Given the description of an element on the screen output the (x, y) to click on. 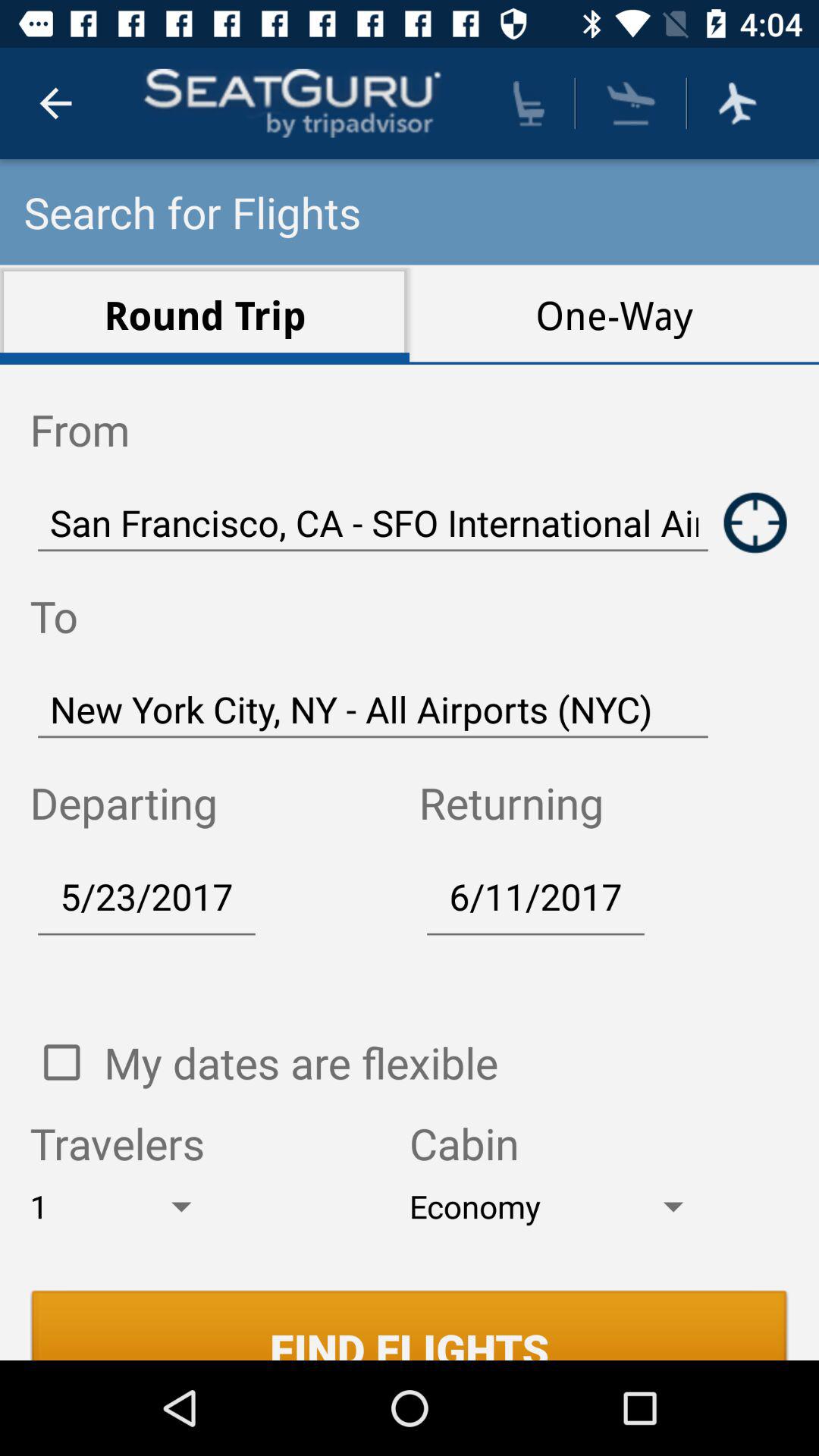
launch the item to the left of the my dates are (61, 1062)
